Given the description of an element on the screen output the (x, y) to click on. 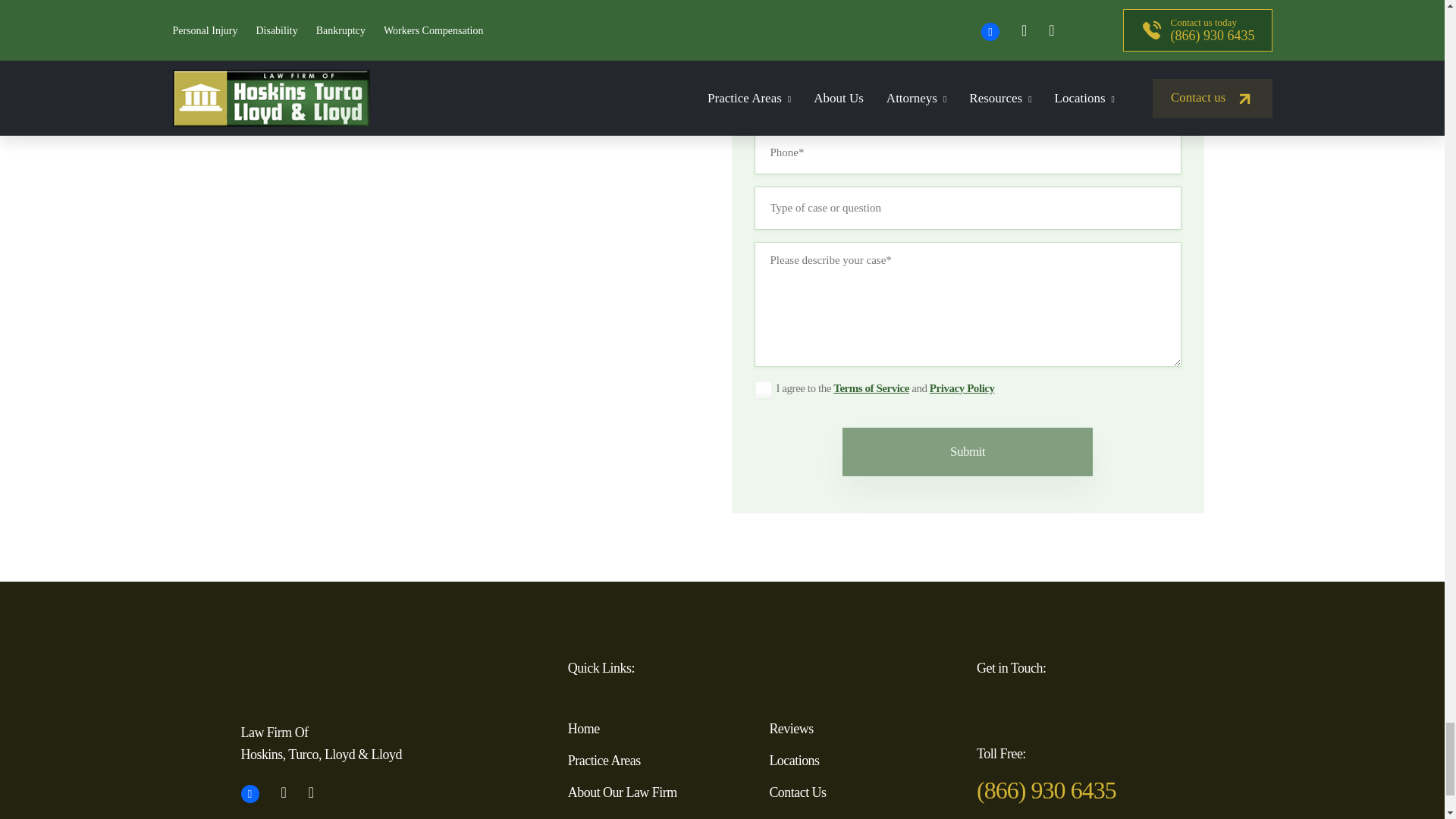
Submit (968, 451)
